Given the description of an element on the screen output the (x, y) to click on. 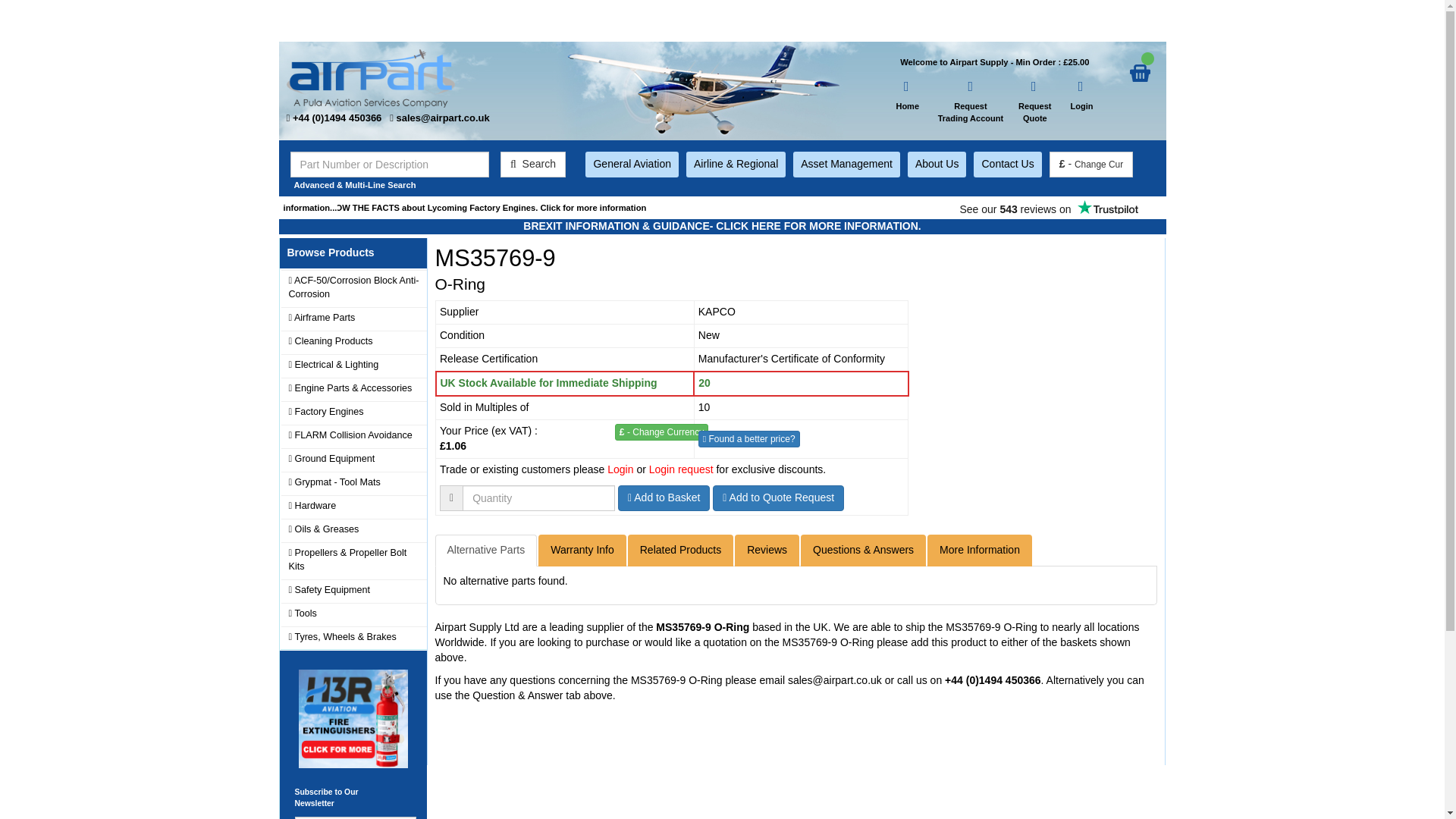
General Aviation (631, 164)
 Grypmat - Tool Mats (907, 96)
Contact Us (353, 482)
 Search (1007, 164)
Change Currency (533, 164)
Customer reviews powered by Trustpilot (660, 432)
 FLARM Collision Avoidance (1047, 206)
 Cleaning Products (353, 435)
About Us (1080, 96)
 Factory Engines (353, 341)
 Ground Equipment (936, 164)
 Airframe Parts (353, 412)
